Given the description of an element on the screen output the (x, y) to click on. 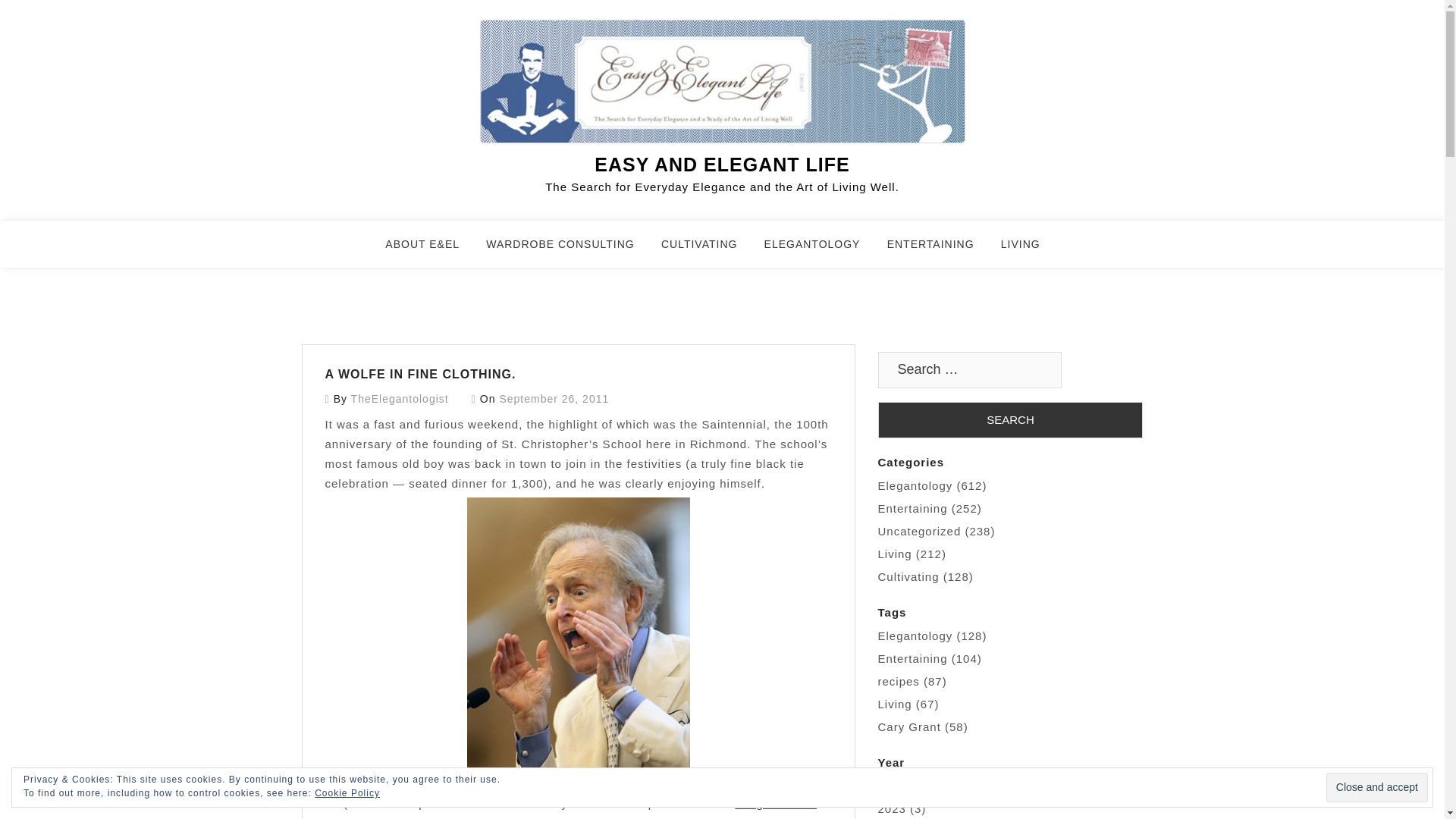
Search (1009, 420)
CULTIVATING (708, 250)
Close and accept (1377, 787)
LIVING (1030, 250)
Image via The Richmond Times-Dispatch (658, 807)
September 26, 2011 (553, 398)
ELEGANTOLOGY (821, 250)
EASY AND ELEGANT LIFE (721, 164)
Search (1009, 420)
TheElegantologist (399, 398)
ENTERTAINING (939, 250)
WARDROBE CONSULTING (569, 250)
